Given the description of an element on the screen output the (x, y) to click on. 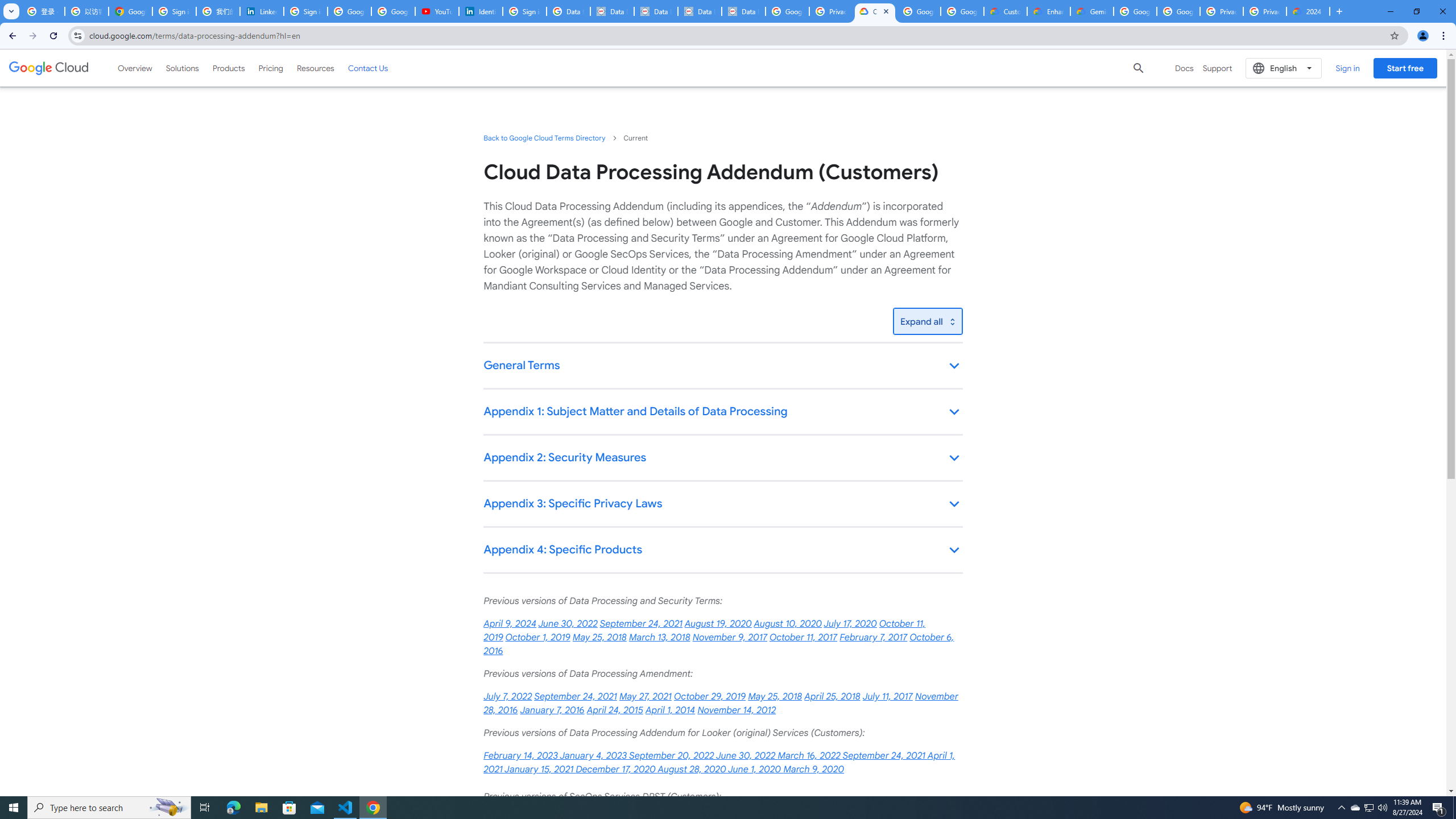
Data Privacy Framework (612, 11)
Customer Care | Google Cloud (1005, 11)
Docs (1183, 67)
March 13, 2018 (659, 637)
Appendix 4: Specific Products keyboard_arrow_down (722, 550)
Toggle all (927, 320)
